Given the description of an element on the screen output the (x, y) to click on. 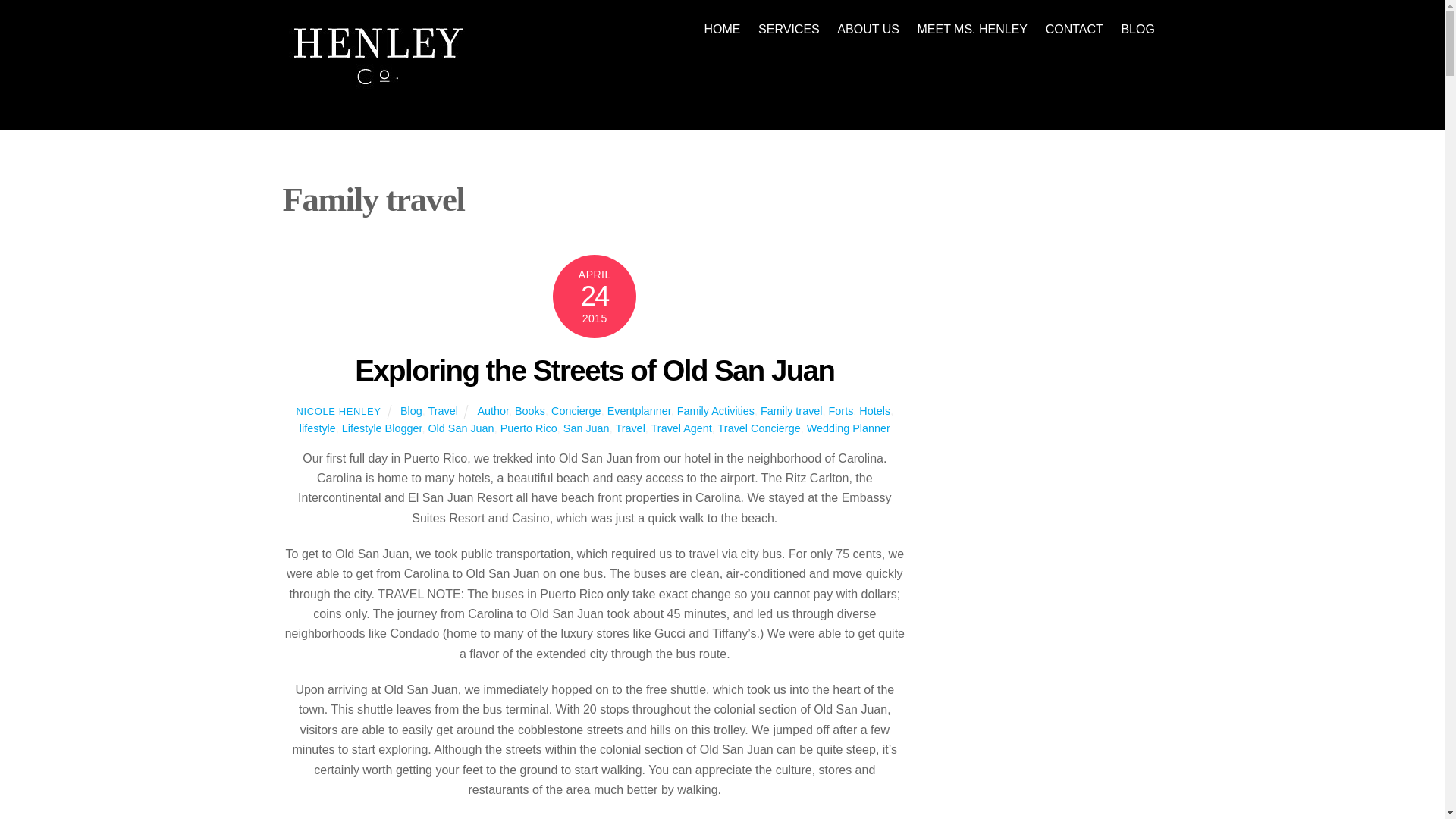
ABOUT US (868, 29)
lifestyle (317, 428)
San Juan (586, 428)
Blog (411, 410)
Puerto Rico (528, 428)
SERVICES (789, 29)
Travel Agent (680, 428)
Author (492, 410)
Books (721, 29)
